Given the description of an element on the screen output the (x, y) to click on. 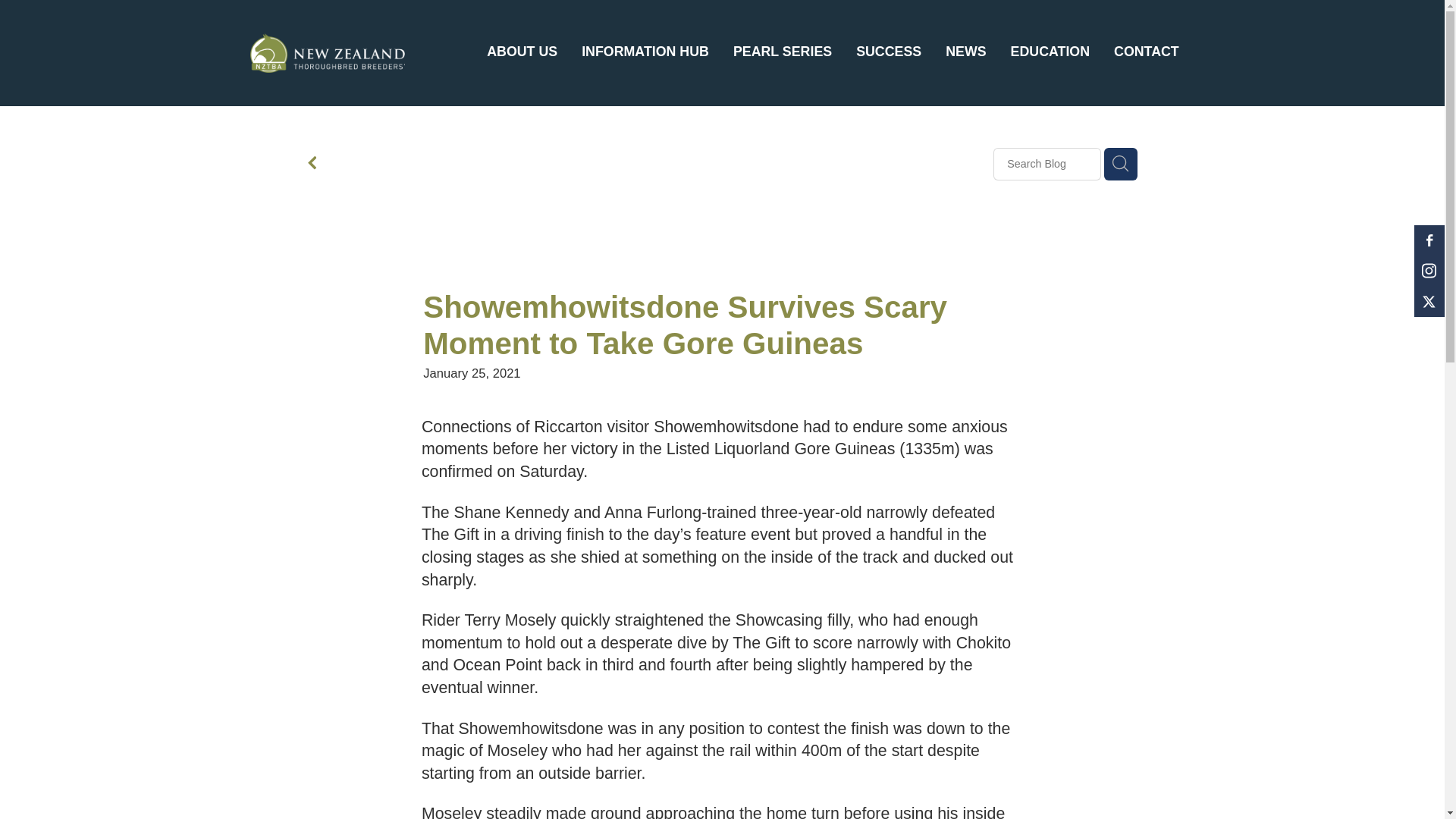
INFORMATION HUB (644, 51)
SUCCESS (888, 51)
PEARL SERIES (782, 51)
NEWS (964, 51)
EDUCATION (1049, 51)
ABOUT US (521, 51)
